Given the description of an element on the screen output the (x, y) to click on. 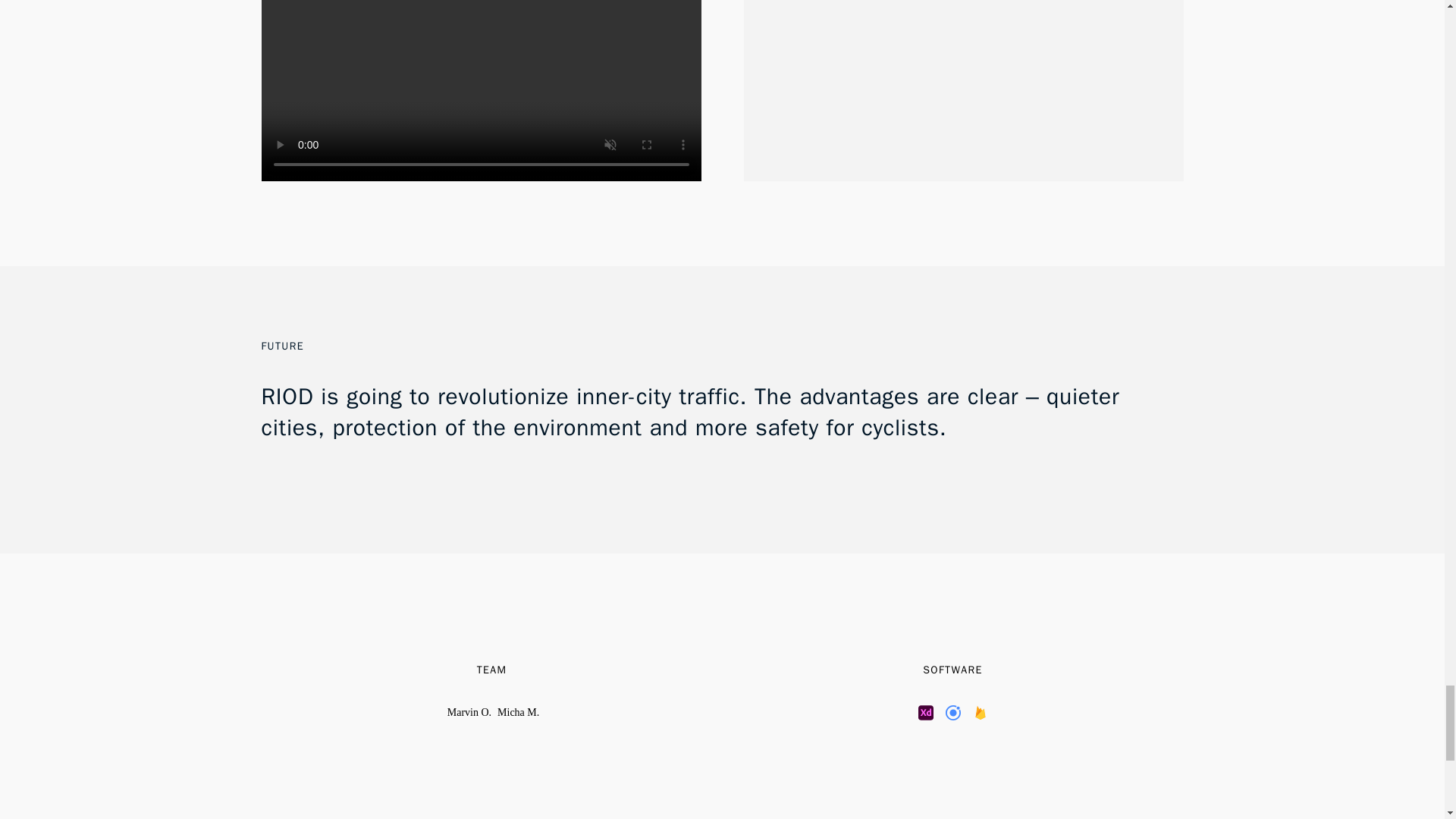
Marvin O. (469, 712)
Micha M. (517, 712)
